Given the description of an element on the screen output the (x, y) to click on. 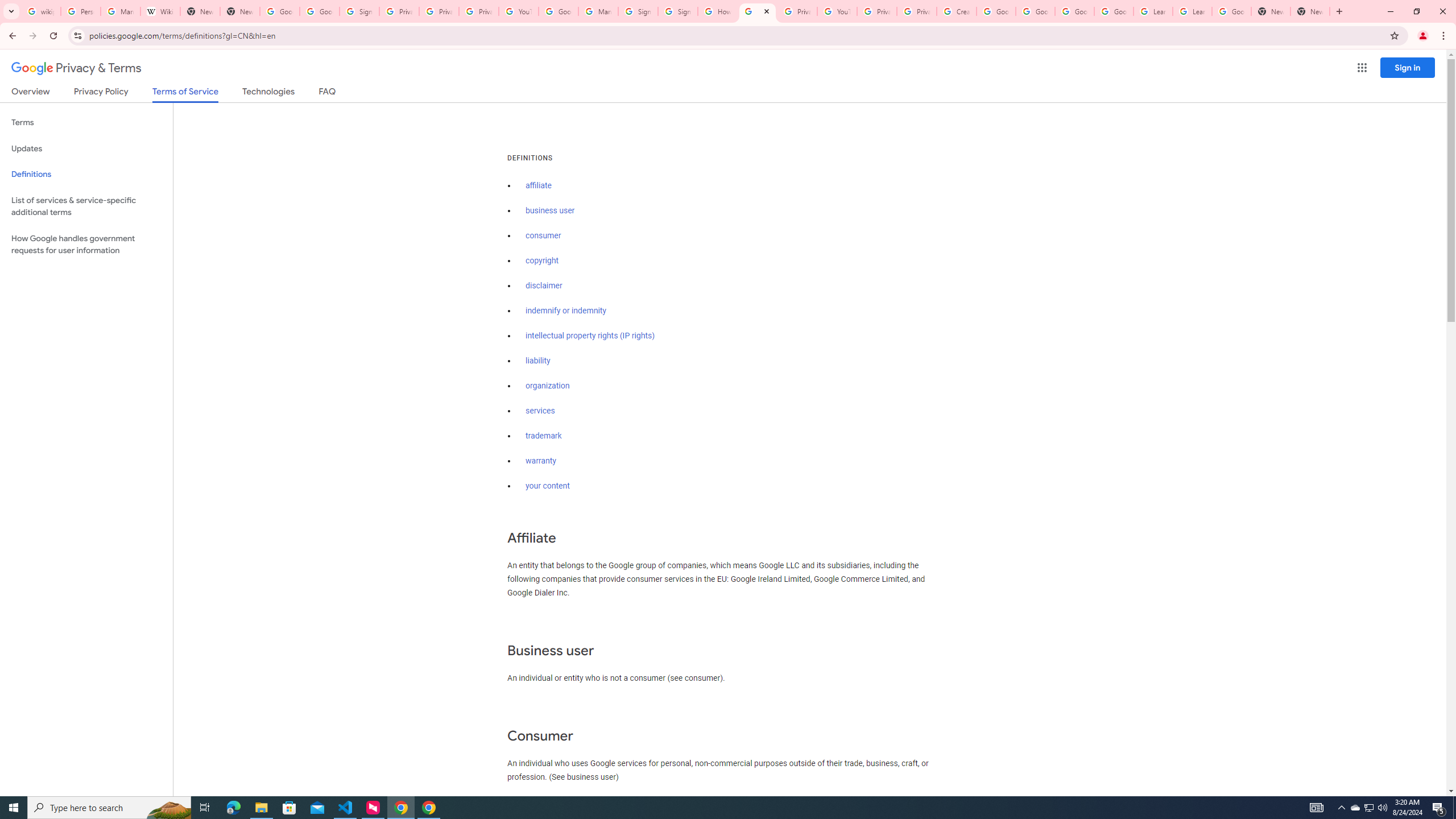
Google Account Help (1074, 11)
How Google handles government requests for user information (86, 244)
Google Account (1231, 11)
YouTube (836, 11)
